Given the description of an element on the screen output the (x, y) to click on. 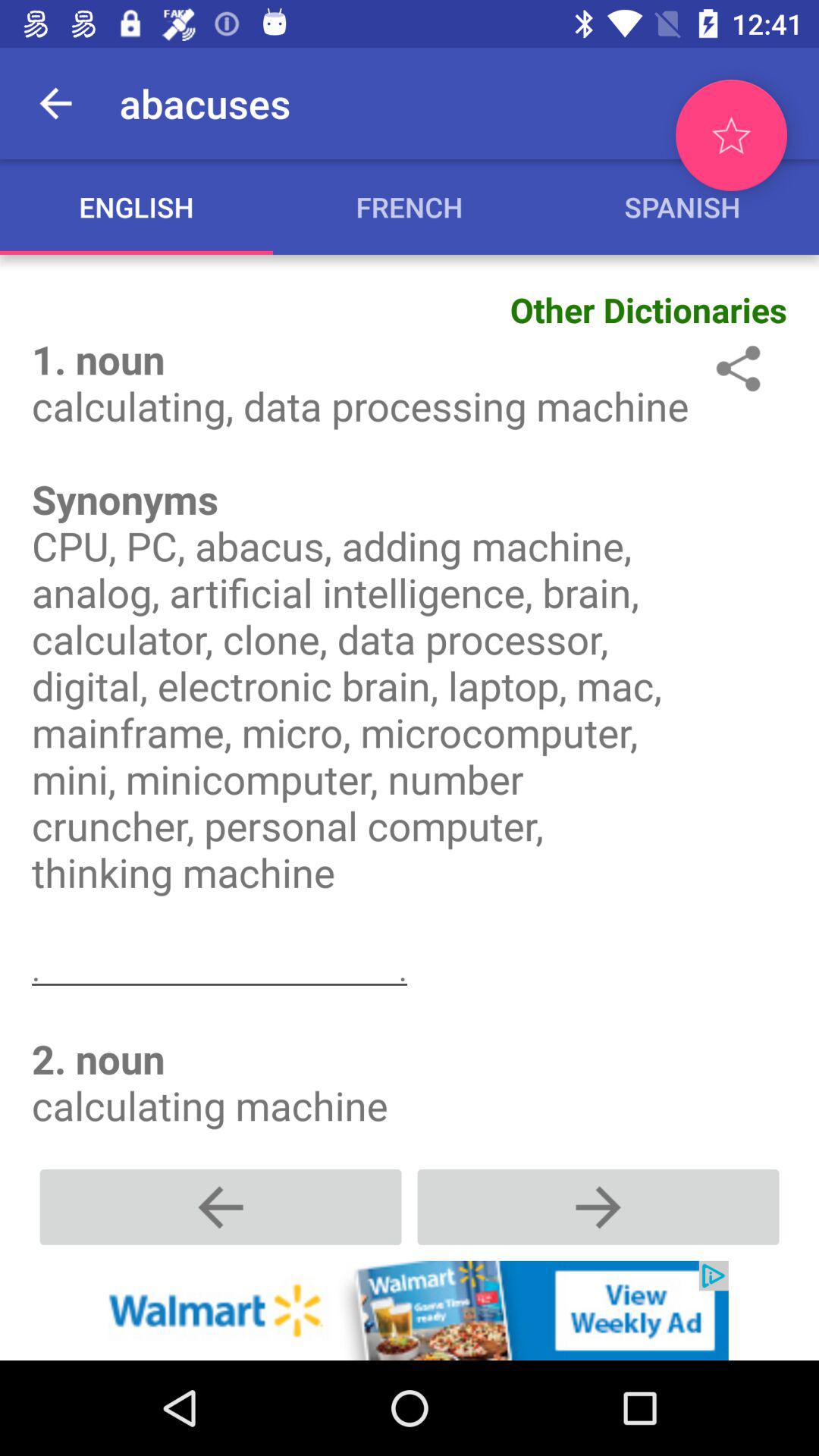
to move back (220, 1206)
